Given the description of an element on the screen output the (x, y) to click on. 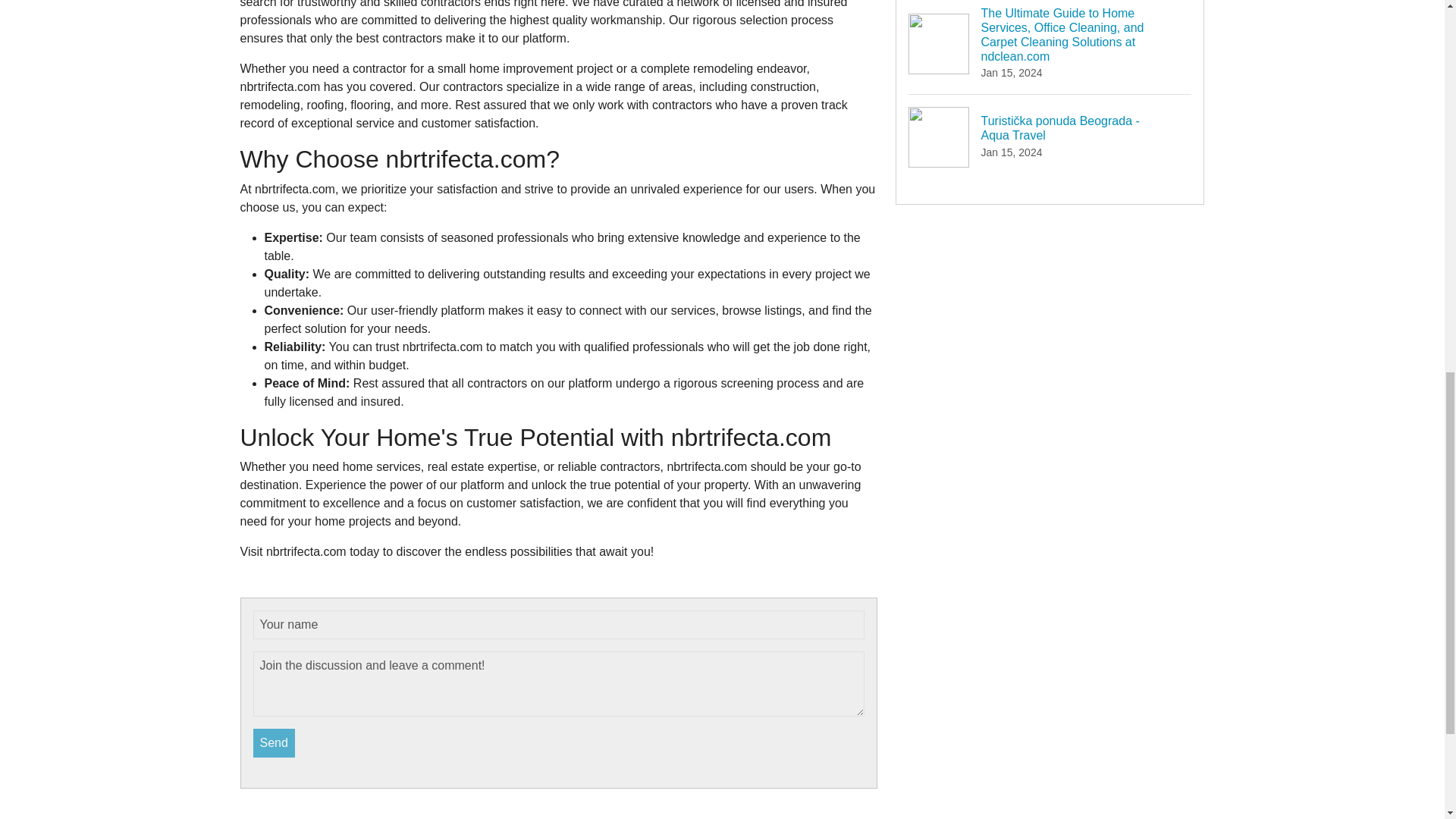
Send (274, 742)
Send (274, 742)
